Given the description of an element on the screen output the (x, y) to click on. 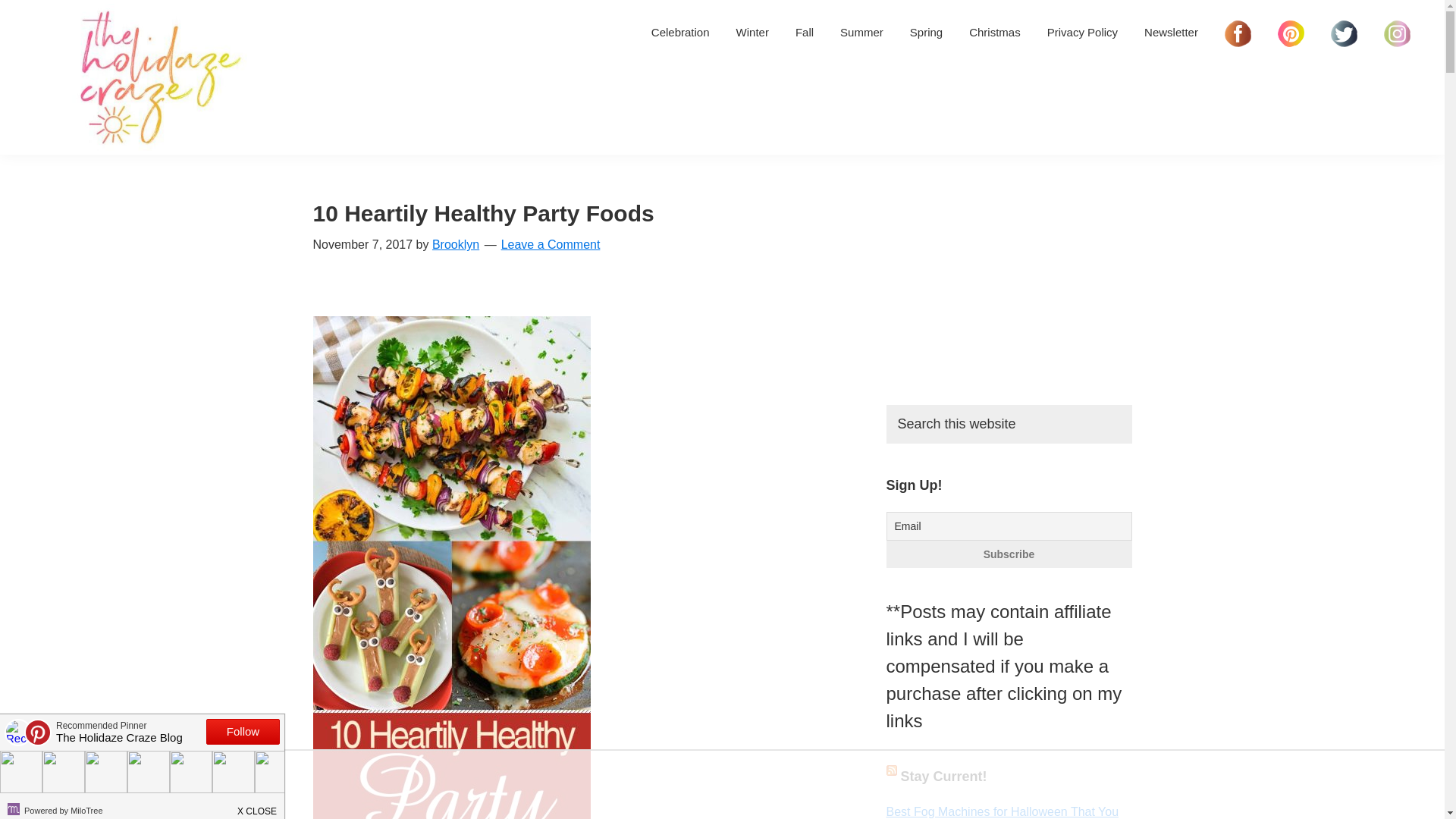
Summer (861, 31)
Fall (804, 31)
Newsletter (1170, 31)
Celebration (680, 31)
Privacy Policy (1082, 31)
Brooklyn (455, 244)
Christmas (995, 31)
Spring (925, 31)
Winter (752, 31)
Subscribe (1008, 554)
